Given the description of an element on the screen output the (x, y) to click on. 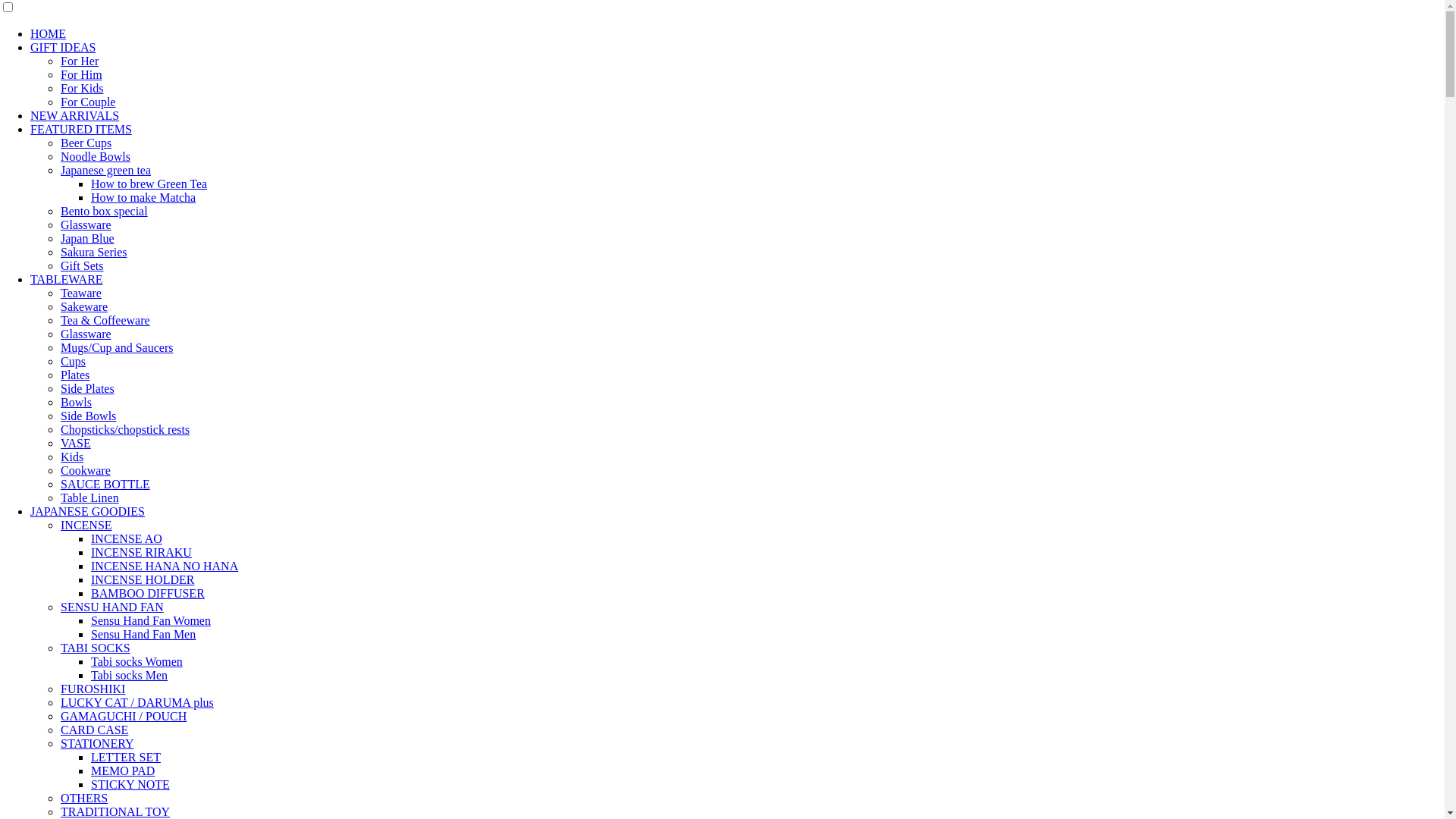
How to brew Green Tea Element type: text (149, 183)
Noodle Bowls Element type: text (95, 156)
NEW ARRIVALS Element type: text (74, 115)
Kids Element type: text (71, 456)
Gift Sets Element type: text (81, 265)
TABLEWARE Element type: text (66, 279)
TRADITIONAL TOY Element type: text (114, 811)
Glassware Element type: text (85, 224)
For Kids Element type: text (81, 87)
Side Plates Element type: text (87, 388)
LUCKY CAT / DARUMA plus Element type: text (136, 702)
For Couple Element type: text (87, 101)
Sakura Series Element type: text (93, 251)
VASE Element type: text (75, 442)
INCENSE AO Element type: text (126, 538)
Cups Element type: text (72, 360)
Teaware Element type: text (80, 292)
Tea & Coffeeware Element type: text (105, 319)
How to make Matcha Element type: text (143, 197)
TABI SOCKS Element type: text (95, 647)
CARD CASE Element type: text (94, 729)
INCENSE HANA NO HANA Element type: text (164, 565)
Chopsticks/chopstick rests Element type: text (124, 429)
Japan Blue Element type: text (87, 238)
FEATURED ITEMS Element type: text (80, 128)
For Him Element type: text (81, 74)
Sakeware Element type: text (83, 306)
GIFT IDEAS Element type: text (62, 46)
MEMO PAD Element type: text (122, 770)
HOME Element type: text (47, 33)
GAMAGUCHI / POUCH Element type: text (123, 715)
Plates Element type: text (74, 374)
Tabi socks Women Element type: text (136, 661)
Glassware Element type: text (85, 333)
STATIONERY Element type: text (97, 743)
OTHERS Element type: text (83, 797)
Beer Cups Element type: text (85, 142)
SAUCE BOTTLE Element type: text (105, 483)
SENSU HAND FAN Element type: text (111, 606)
Sensu Hand Fan Men Element type: text (143, 633)
Tabi socks Men Element type: text (129, 674)
Japanese green tea Element type: text (105, 169)
Side Bowls Element type: text (88, 415)
Bowls Element type: text (75, 401)
STICKY NOTE Element type: text (130, 784)
BAMBOO DIFFUSER Element type: text (147, 592)
Bento box special Element type: text (103, 210)
FUROSHIKI Element type: text (92, 688)
Sensu Hand Fan Women Element type: text (150, 620)
INCENSE HOLDER Element type: text (142, 579)
Mugs/Cup and Saucers Element type: text (116, 347)
JAPANESE GOODIES Element type: text (87, 511)
LETTER SET Element type: text (125, 756)
Cookware Element type: text (85, 470)
INCENSE RIRAKU Element type: text (141, 552)
Table Linen Element type: text (89, 497)
For Her Element type: text (79, 60)
INCENSE Element type: text (86, 524)
